Given the description of an element on the screen output the (x, y) to click on. 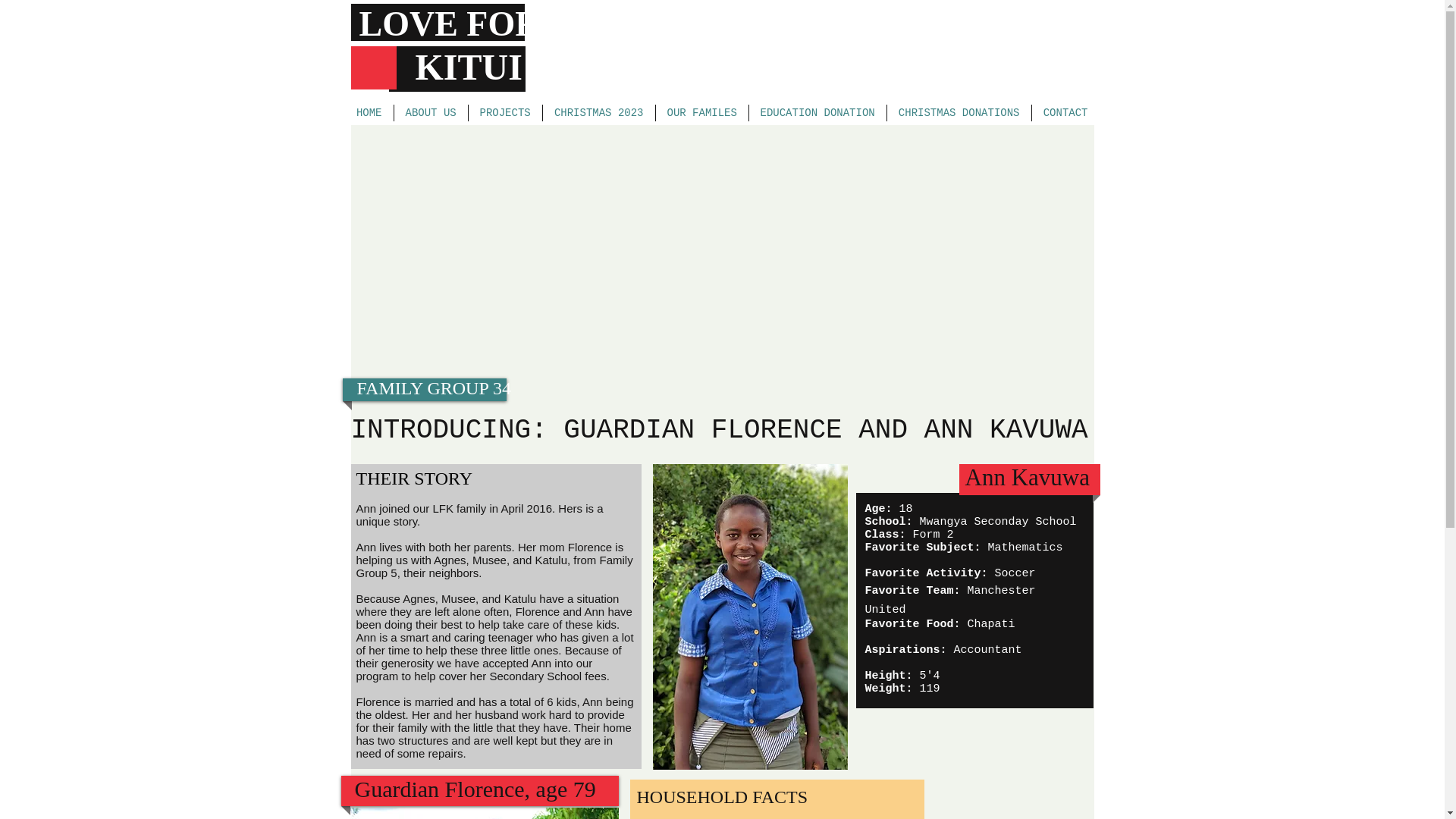
CHRISTMAS DONATIONS (958, 112)
OUR FAMILES (701, 112)
PROJECTS (504, 112)
HOME (368, 112)
CHRISTMAS 2023 (599, 112)
ABOUT US (430, 112)
CONTACT (1064, 112)
EDUCATION DONATION (817, 112)
